Given the description of an element on the screen output the (x, y) to click on. 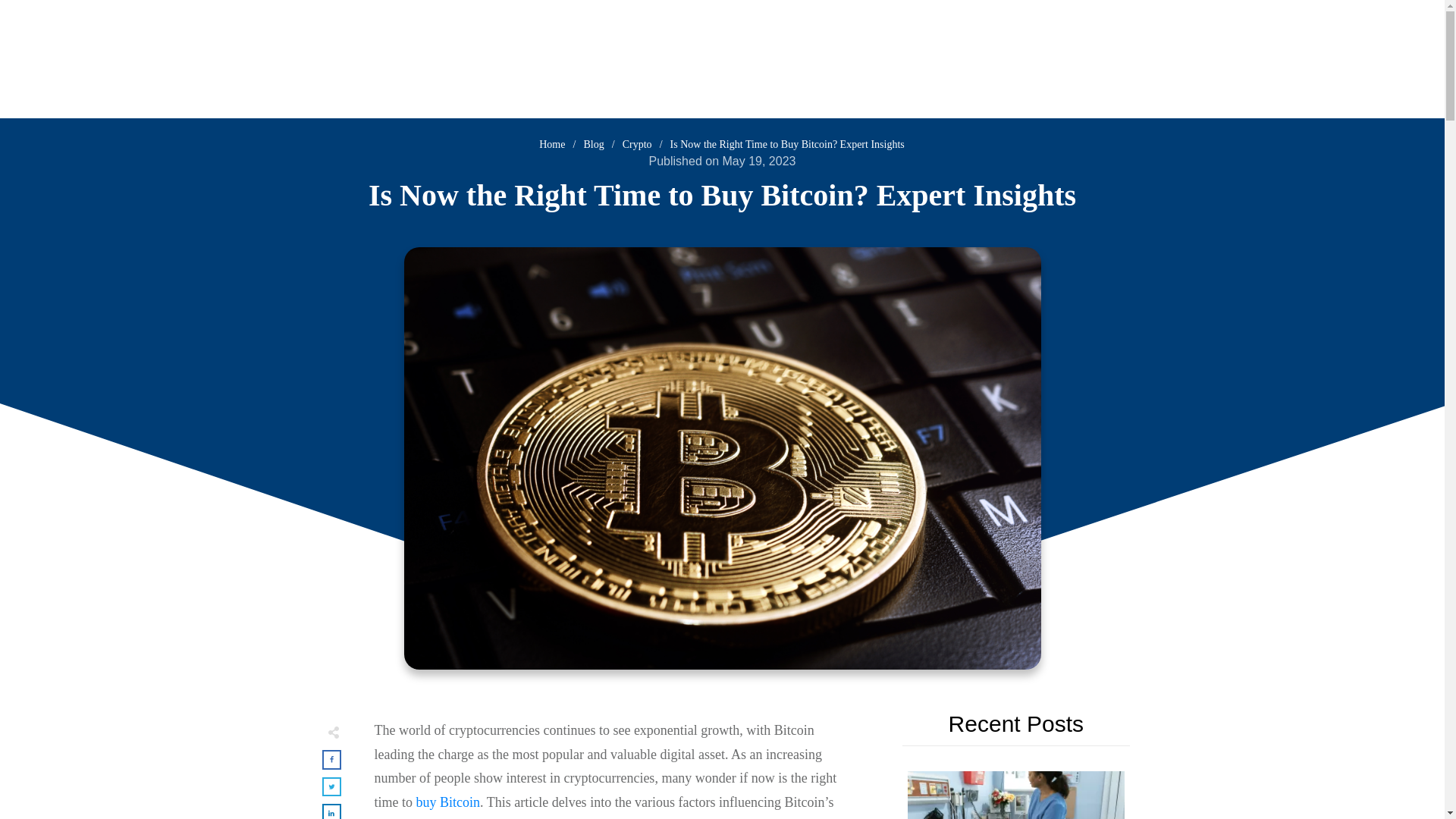
Home (551, 143)
Blog (593, 143)
buy Bitcoin (447, 801)
Crypto (637, 143)
